Given the description of an element on the screen output the (x, y) to click on. 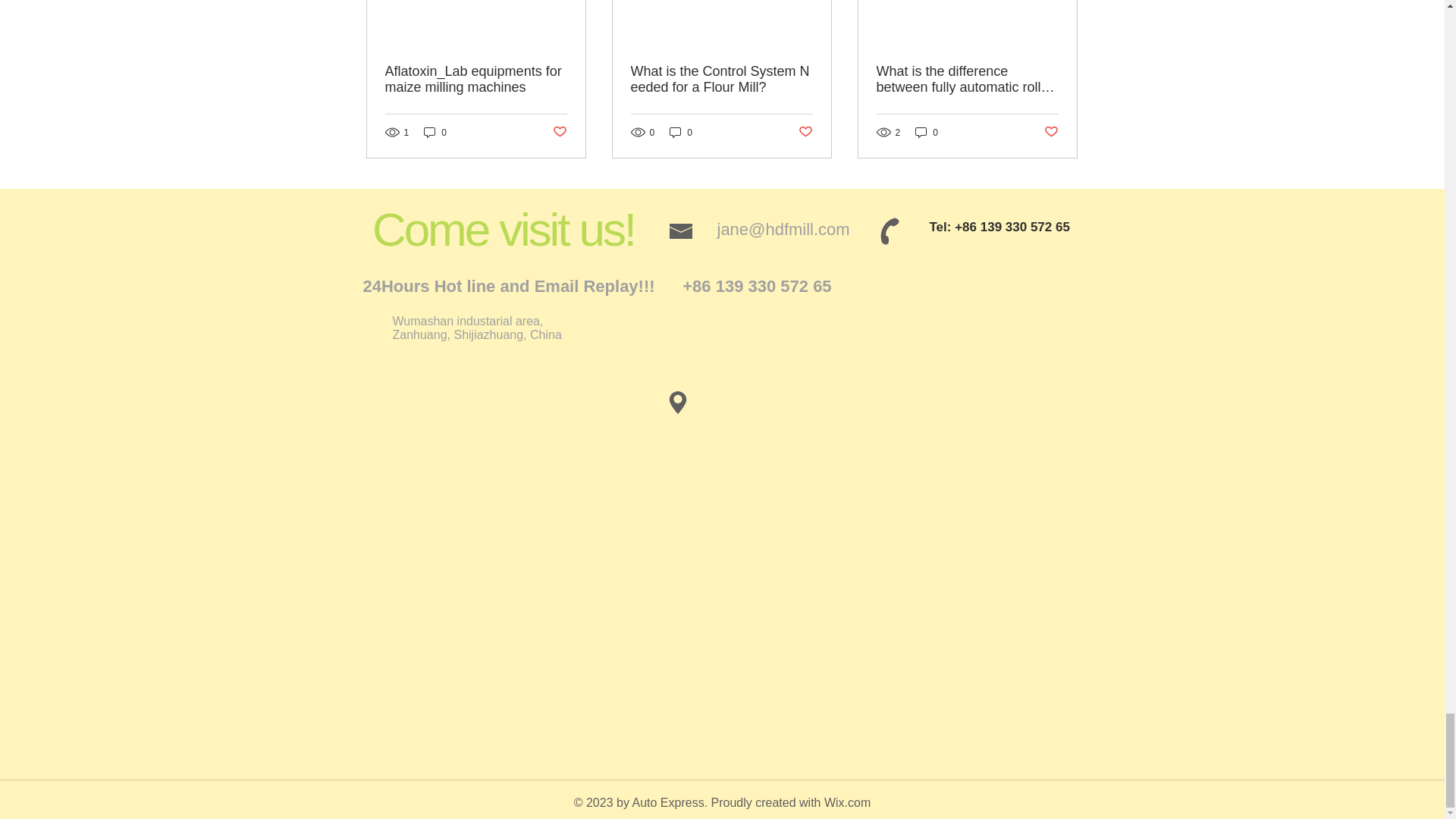
Post not marked as liked (1050, 132)
What is the Control System Needed for a Flour Mill? (721, 79)
0 (681, 132)
0 (435, 132)
Post not marked as liked (804, 132)
Post not marked as liked (558, 132)
0 (926, 132)
